Given the description of an element on the screen output the (x, y) to click on. 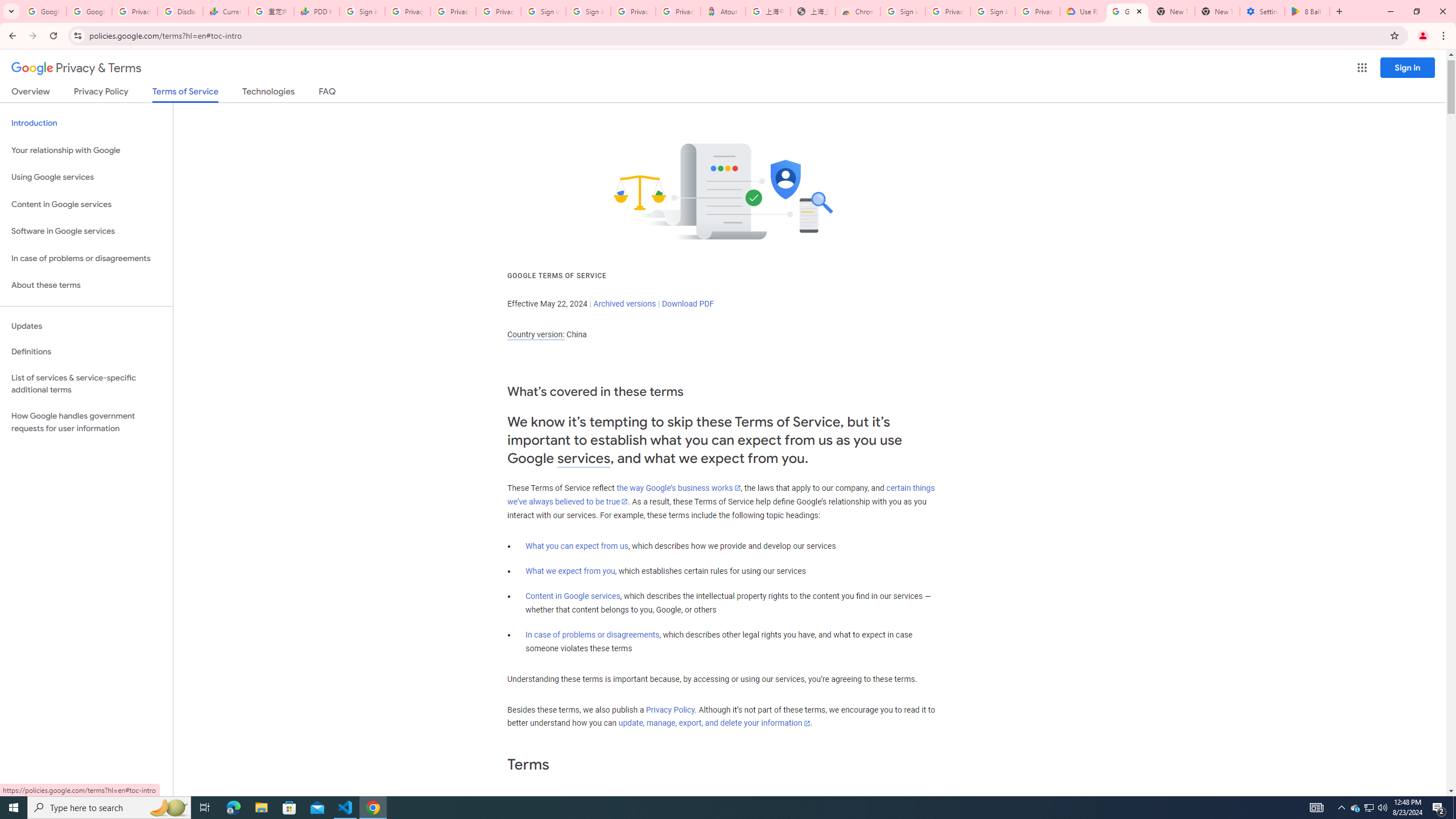
Chrome Web Store - Color themes by Chrome (857, 11)
Sign in - Google Accounts (542, 11)
Privacy Checkup (497, 11)
PDD Holdings Inc - ADR (PDD) Price & News - Google Finance (316, 11)
How Google handles government requests for user information (86, 422)
